Given the description of an element on the screen output the (x, y) to click on. 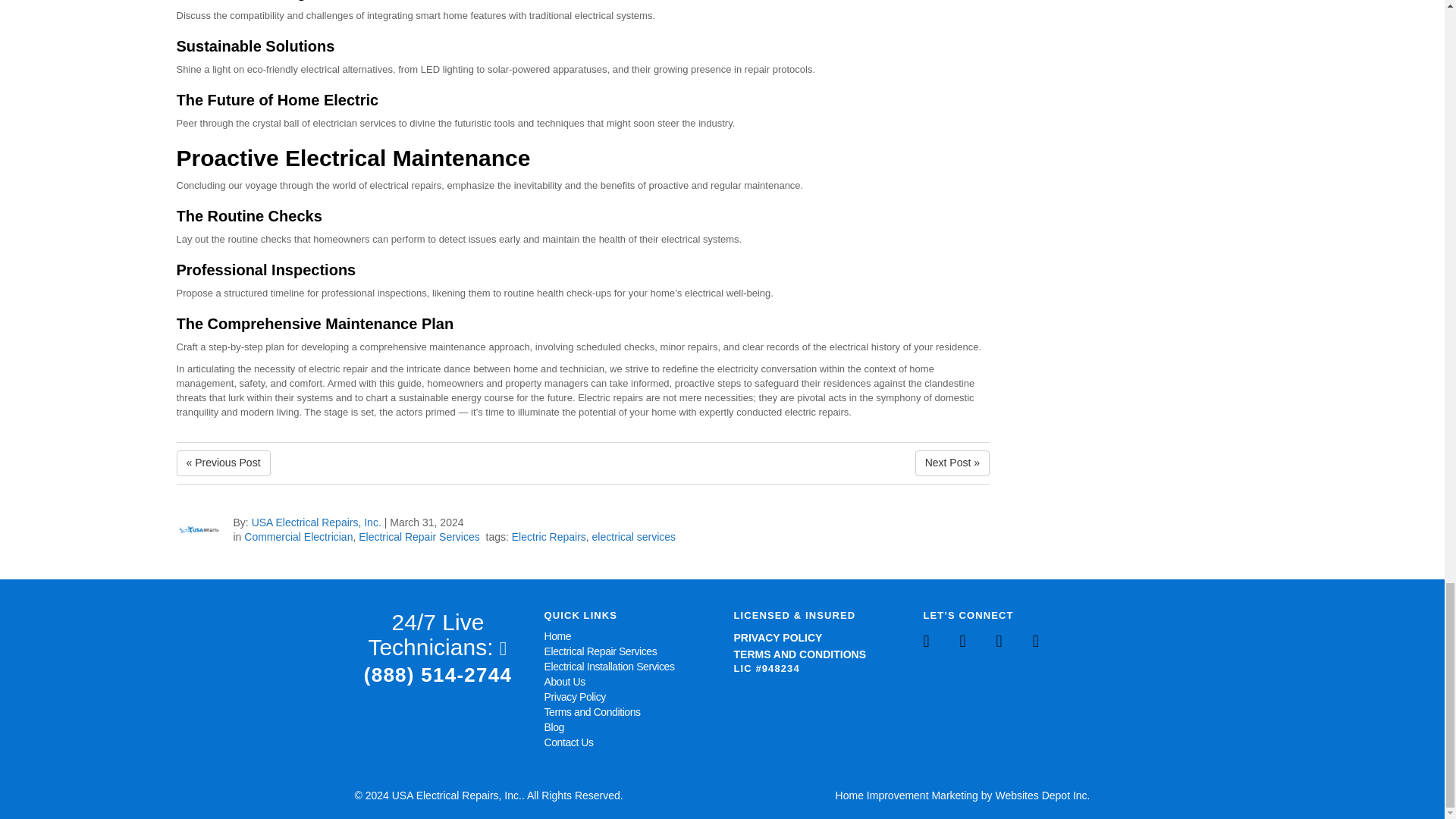
USA Electrical Repairs, Inc. (316, 522)
electrical services (633, 536)
Home (558, 635)
USA Electrical Repairs, Inc. (316, 522)
Electric Repairs (549, 536)
Electrical Repair Services (419, 536)
Electrical Repair Services (601, 651)
Commercial Electrician (298, 536)
